Given the description of an element on the screen output the (x, y) to click on. 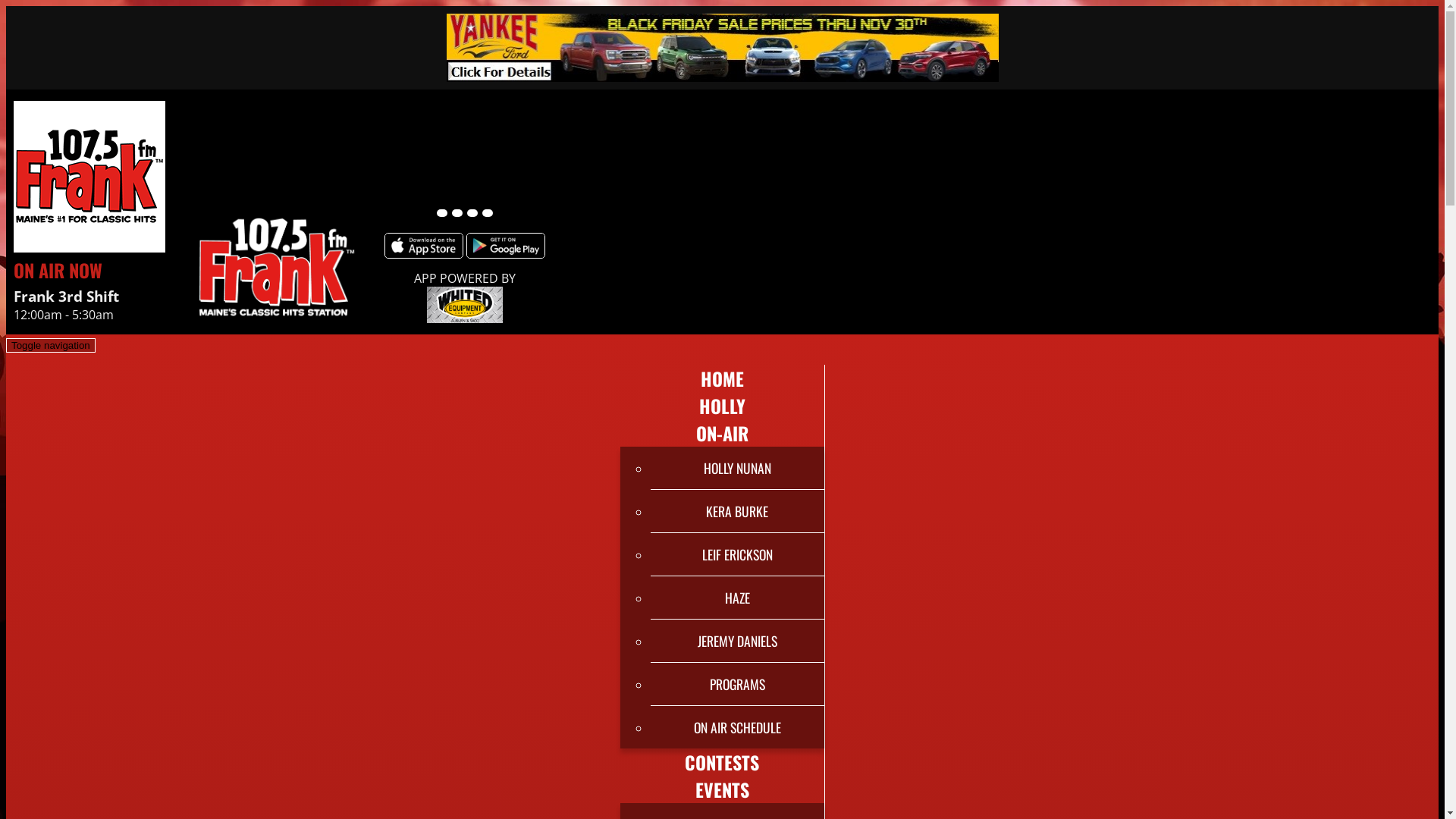
EVENTS Element type: text (721, 789)
HAZE Element type: text (737, 597)
KERA BURKE Element type: text (737, 510)
HOME Element type: text (721, 378)
ON AIR SCHEDULE Element type: text (737, 727)
HOLLY NUNAN Element type: text (737, 467)
JEREMY DANIELS Element type: text (737, 640)
Toggle navigation Element type: text (50, 345)
CONTESTS Element type: text (721, 762)
HOLLY Element type: text (722, 405)
PROGRAMS Element type: text (737, 683)
ON-AIR Element type: text (722, 432)
LEIF ERICKSON Element type: text (737, 554)
